Given the description of an element on the screen output the (x, y) to click on. 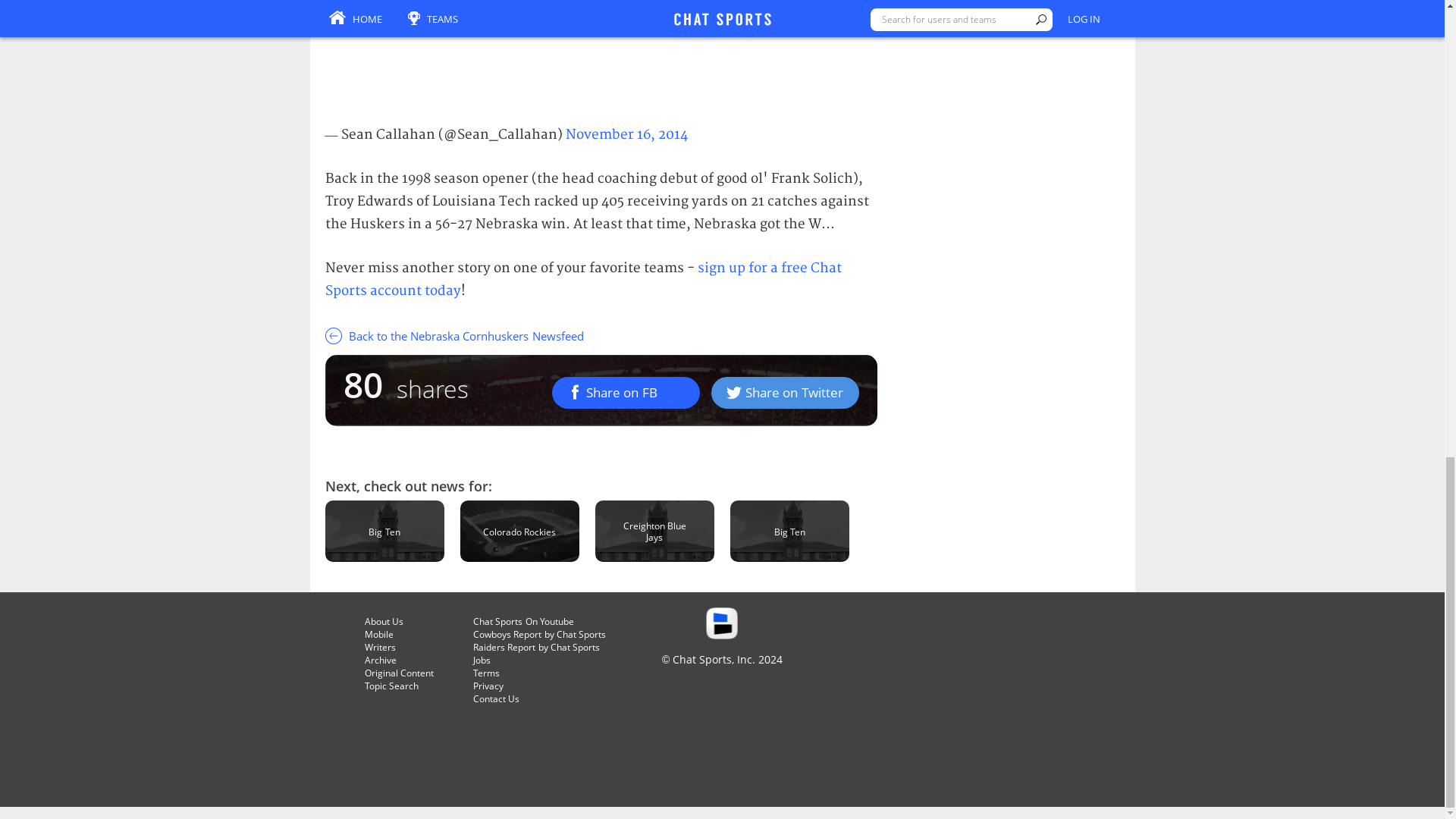
Share on Twitter (785, 392)
Colorado Rockies (519, 530)
Back to the Nebraska Cornhuskers Newsfeed (600, 335)
3rd party ad content (600, 54)
Creighton Blue Jays (654, 530)
Share on FB (625, 392)
sign up for a free Chat Sports account today (582, 279)
November 16, 2014 (626, 134)
Big Ten (384, 530)
Big Ten (789, 530)
